Given the description of an element on the screen output the (x, y) to click on. 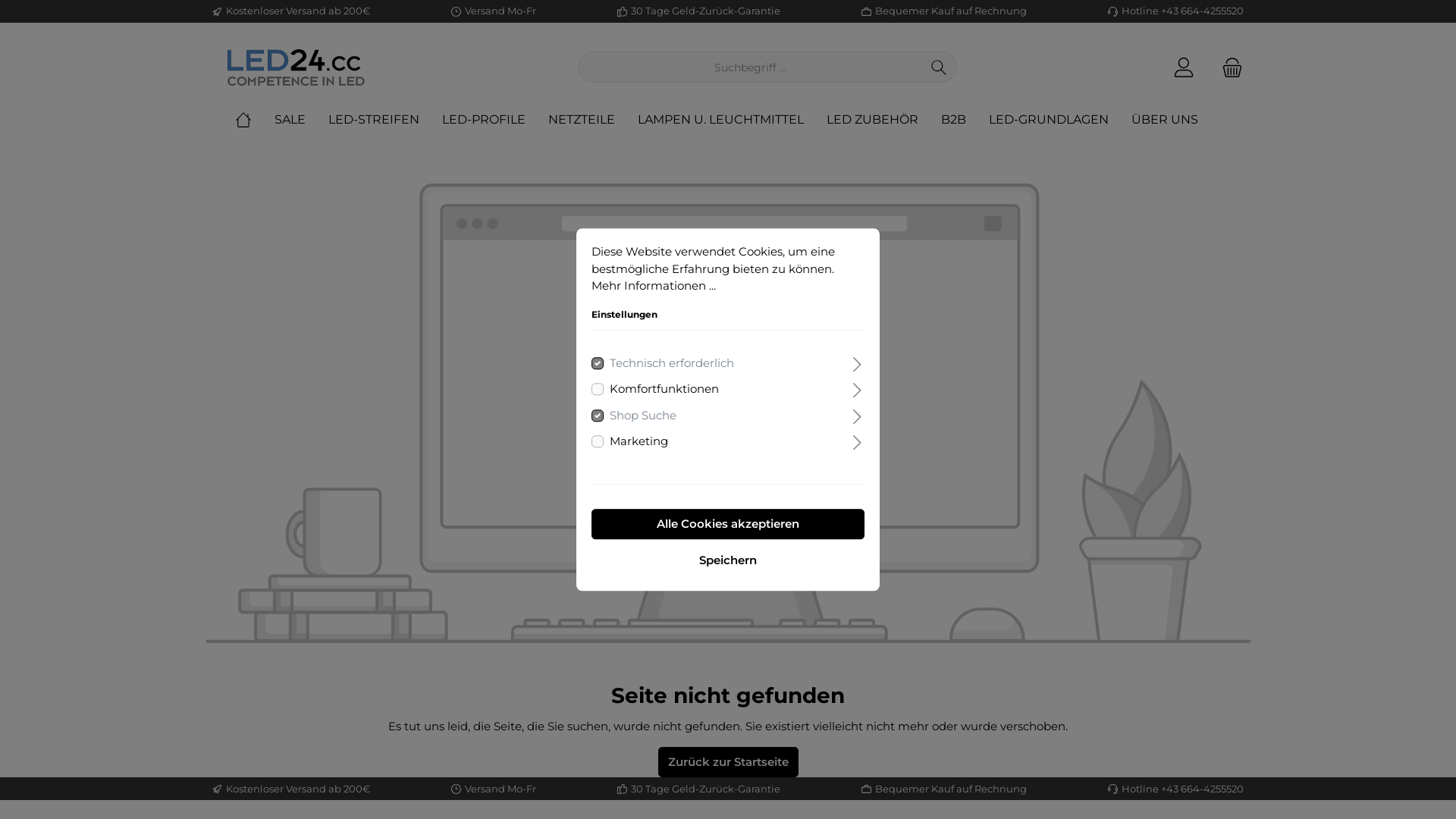
SALE Element type: text (301, 119)
Mehr Informationen ... Element type: text (653, 285)
Warenkorb Element type: hover (1227, 66)
B2B Element type: text (964, 119)
NETZTEILE Element type: text (592, 119)
LED-PROFILE Element type: text (495, 119)
Alle Cookies akzeptieren Element type: text (727, 523)
Mein Konto Element type: hover (1183, 66)
LED-STREIFEN Element type: text (385, 119)
Speichern Element type: text (727, 560)
LED-GRUNDLAGEN Element type: text (1059, 119)
Zur Startseite wechseln Element type: hover (295, 67)
LAMPEN U. LEUCHTMITTEL Element type: text (731, 119)
Home Element type: hover (254, 119)
